Given the description of an element on the screen output the (x, y) to click on. 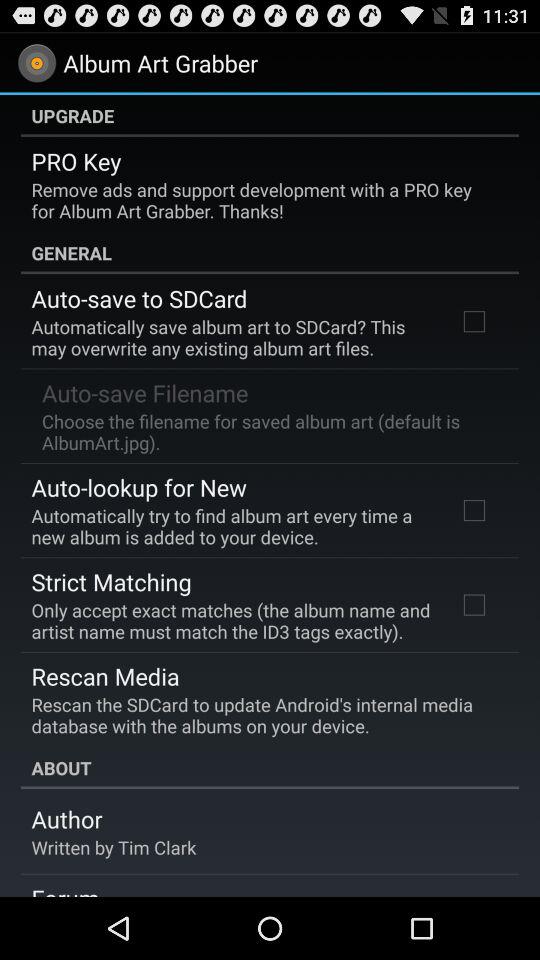
flip until written by tim item (113, 847)
